Given the description of an element on the screen output the (x, y) to click on. 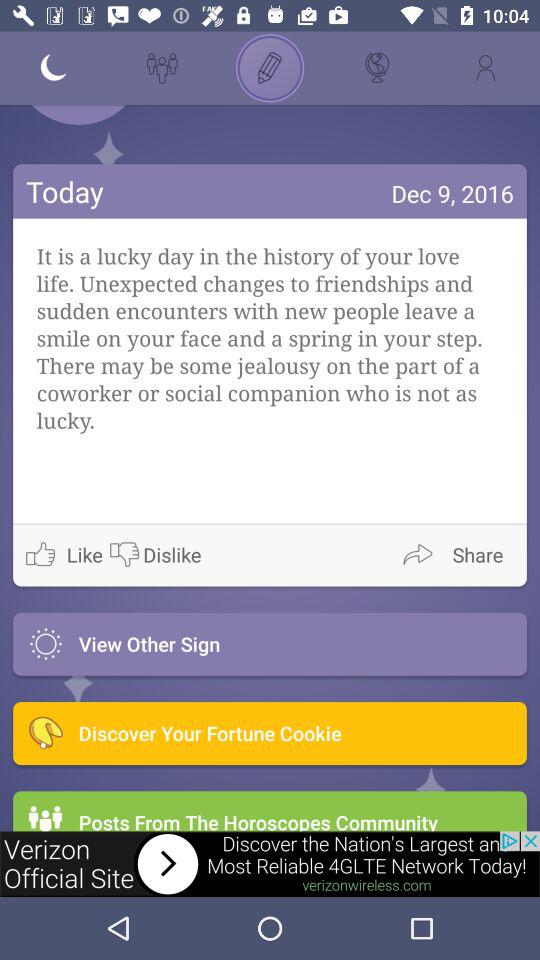
verizon advertisement (270, 864)
